Given the description of an element on the screen output the (x, y) to click on. 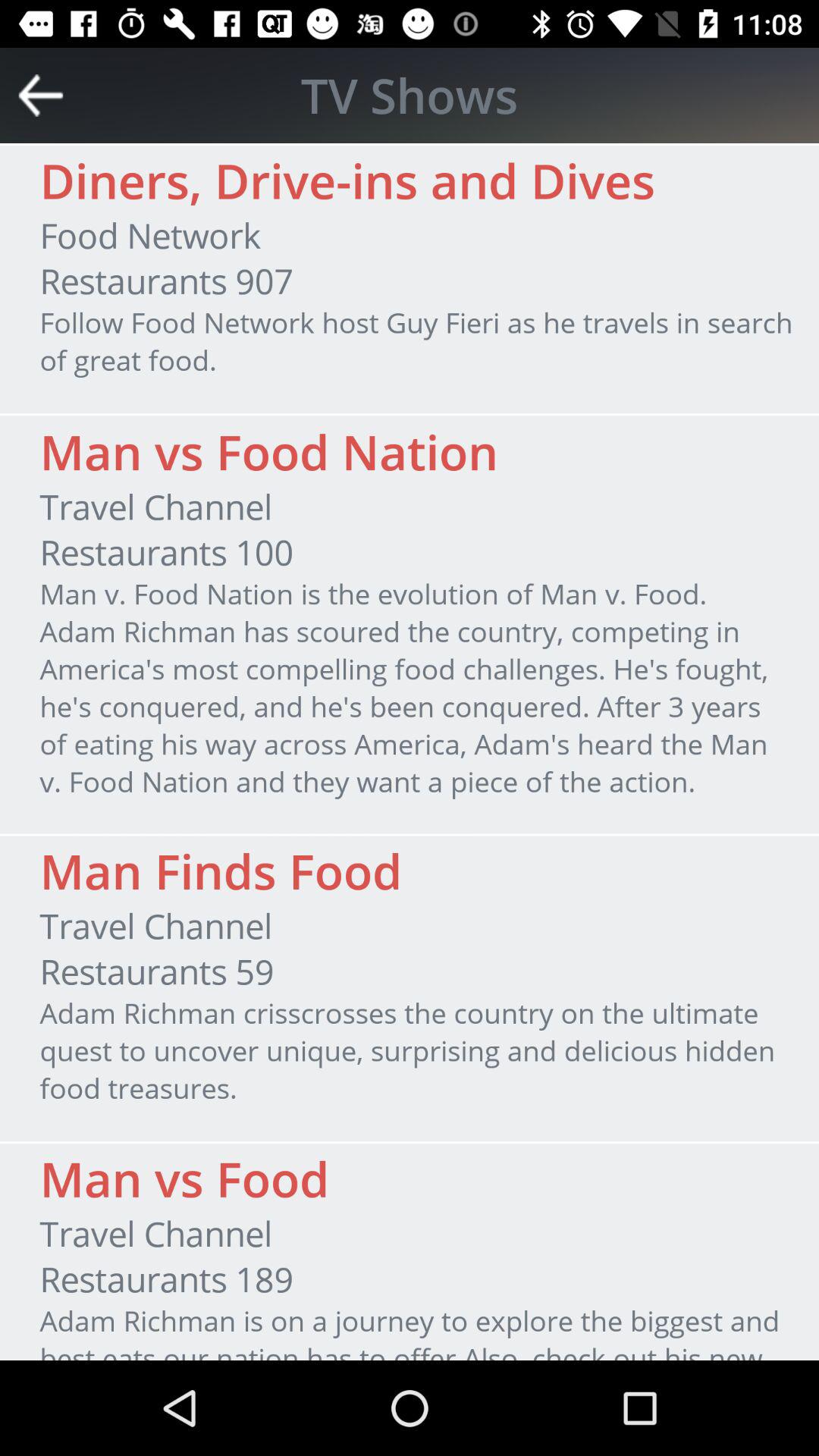
launch the icon above the diners drive ins icon (409, 95)
